Given the description of an element on the screen output the (x, y) to click on. 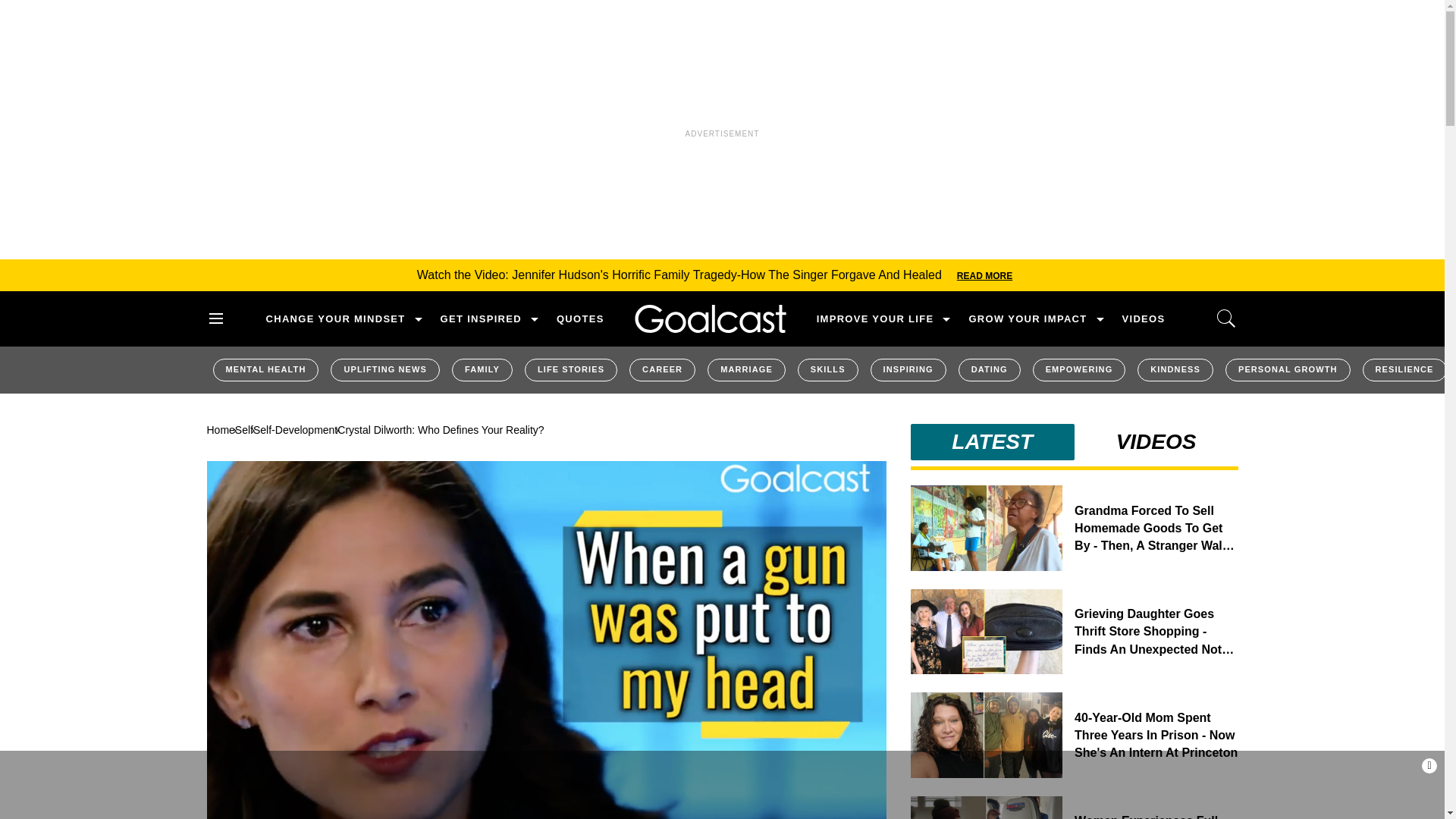
VIDEOS (1144, 318)
GROW YOUR IMPACT (1027, 318)
GET INSPIRED (481, 318)
QUOTES (580, 318)
CHANGE YOUR MINDSET (334, 318)
IMPROVE YOUR LIFE (875, 318)
